Given the description of an element on the screen output the (x, y) to click on. 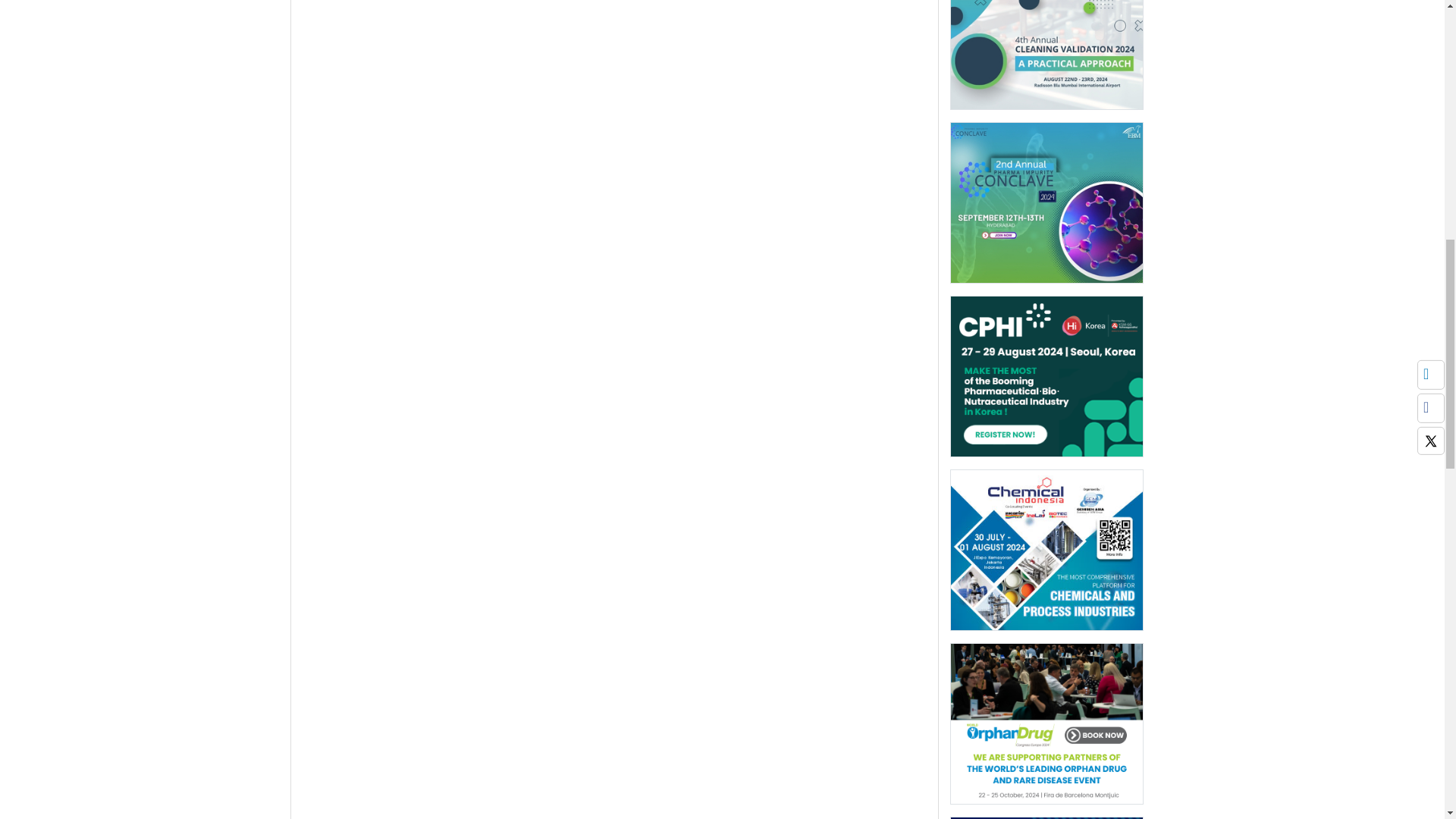
CPHI Korea 2024 (1045, 376)
CHEMICAL INDONESIA 2024 (1045, 554)
2nd Annual Pharma Impurity Conclave 2024 (1045, 202)
2nd Annual Pharma Impurity Conclave 2024 (1045, 207)
CHEMICAL INDONESIA 2024 (1045, 549)
World Orphan Drug Congress Europe 2024 (1045, 728)
4th Annual Cleaning Validation 2024 (1045, 54)
4th Annual Cleaning Validation 2024 (1045, 34)
INALAB 2024 (1045, 817)
World Orphan Drug Congress Europe 2024 (1045, 723)
CPHI Korea 2024 (1045, 381)
